Given the description of an element on the screen output the (x, y) to click on. 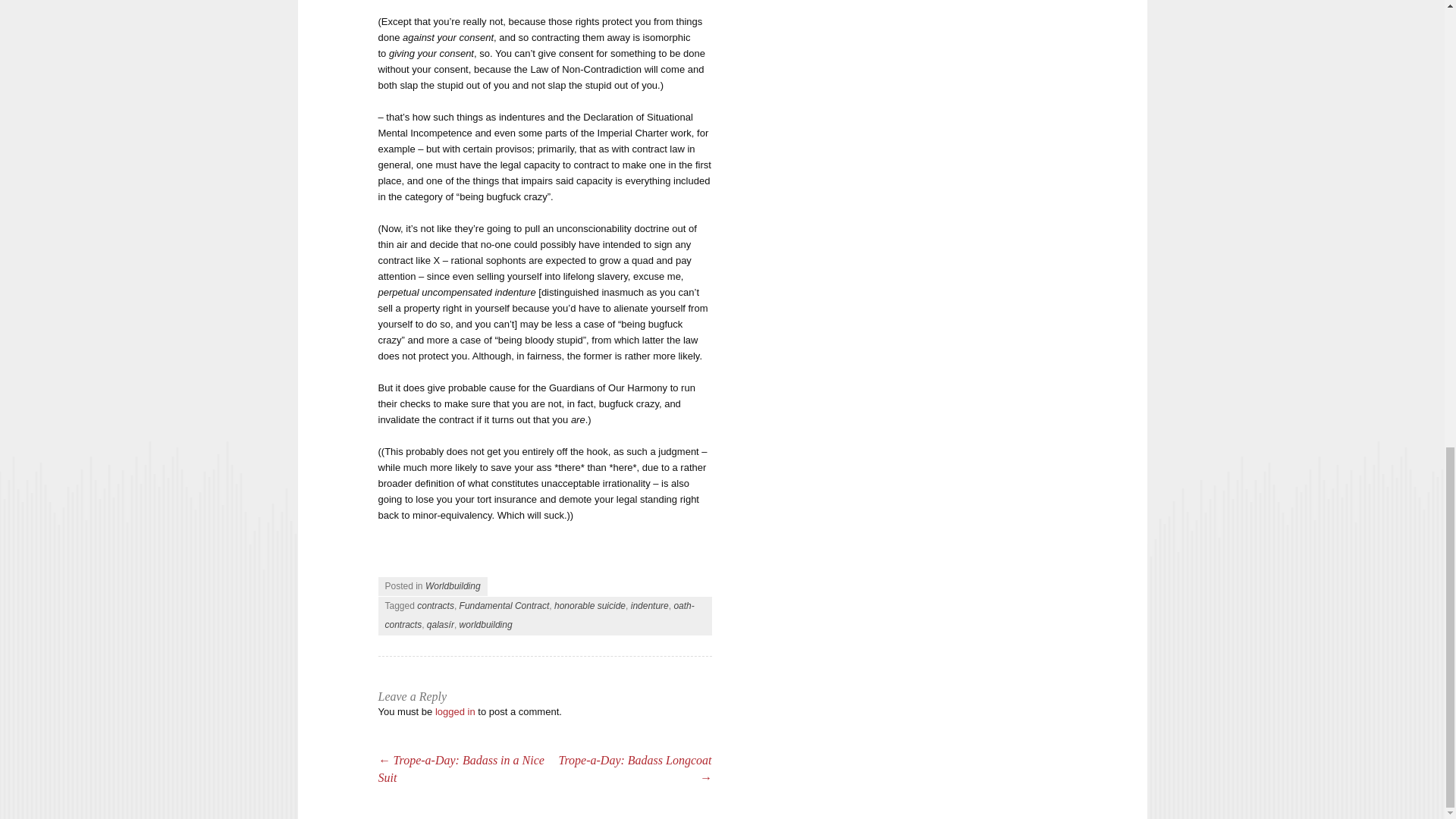
contracts (435, 605)
oath-contracts (539, 614)
Fundamental Contract (505, 605)
indenture (649, 605)
Worldbuilding (452, 585)
logged in (455, 711)
honorable suicide (590, 605)
worldbuilding (486, 624)
